Given the description of an element on the screen output the (x, y) to click on. 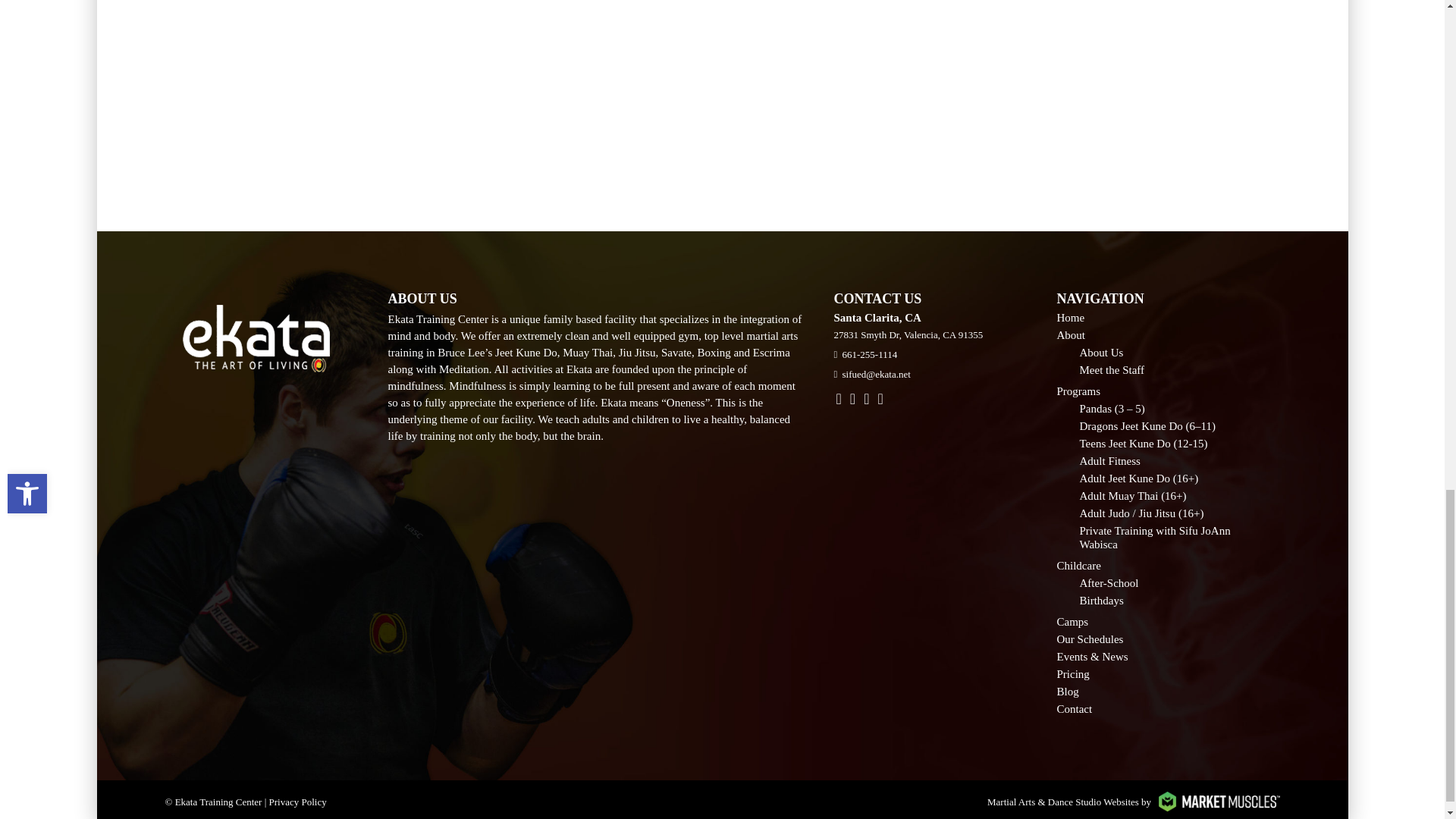
Accessibility Tools (26, 493)
